Given the description of an element on the screen output the (x, y) to click on. 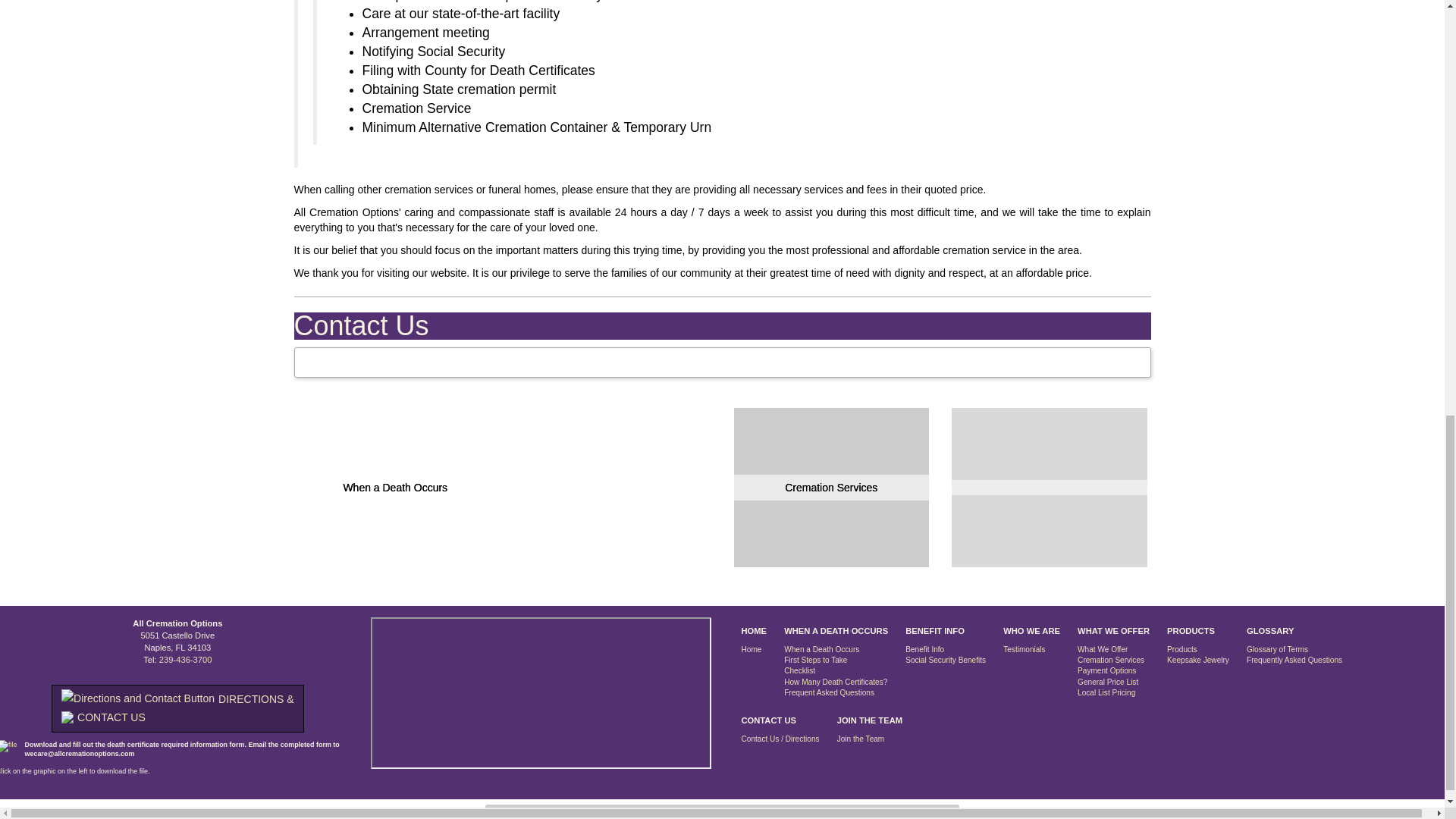
Directions and Contact Us (177, 708)
